Given the description of an element on the screen output the (x, y) to click on. 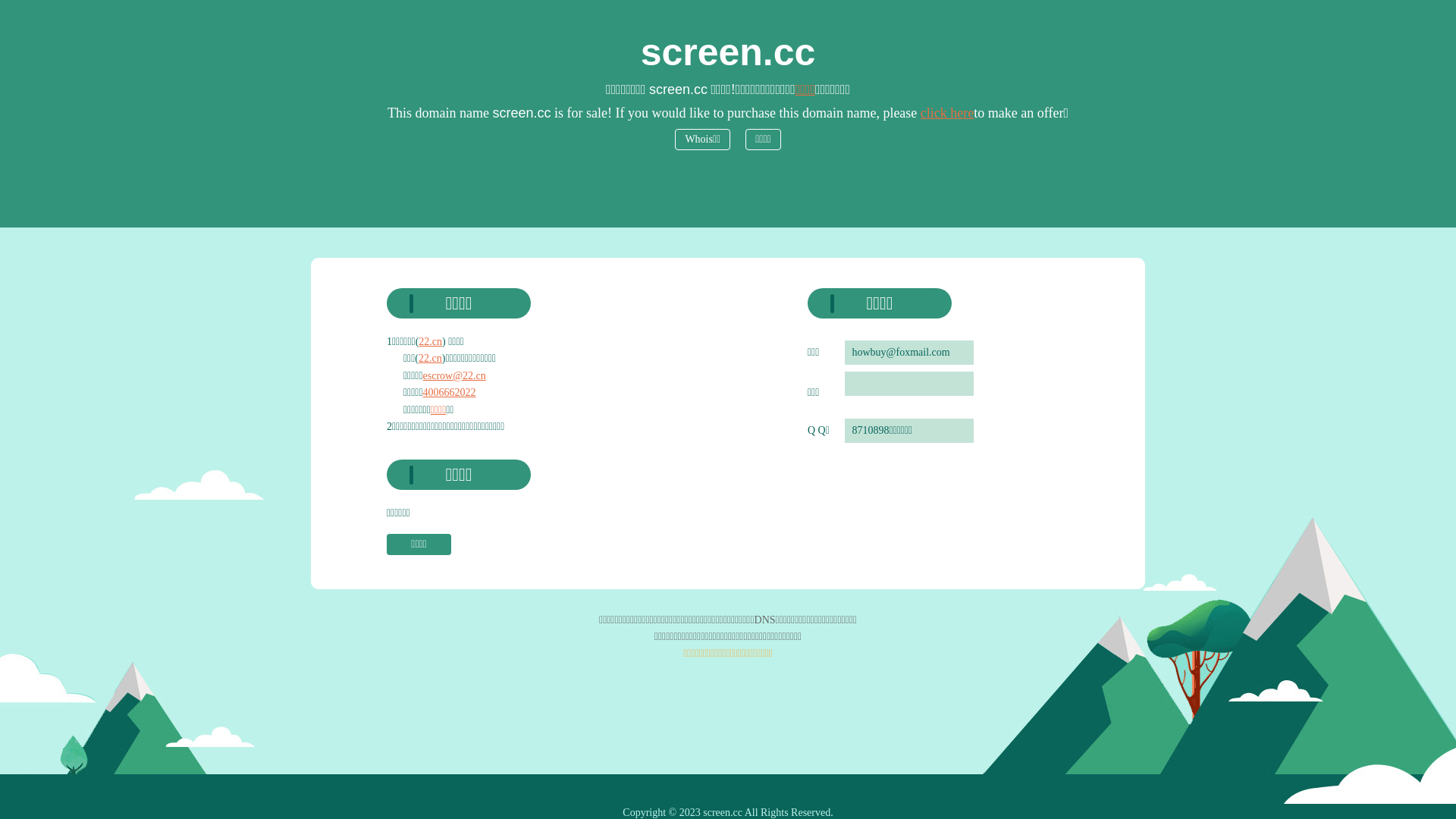
escrow@22.cn Element type: text (454, 375)
22.cn Element type: text (430, 341)
4006662022 Element type: text (449, 392)
click here Element type: text (946, 112)
22.cn Element type: text (430, 358)
